Given the description of an element on the screen output the (x, y) to click on. 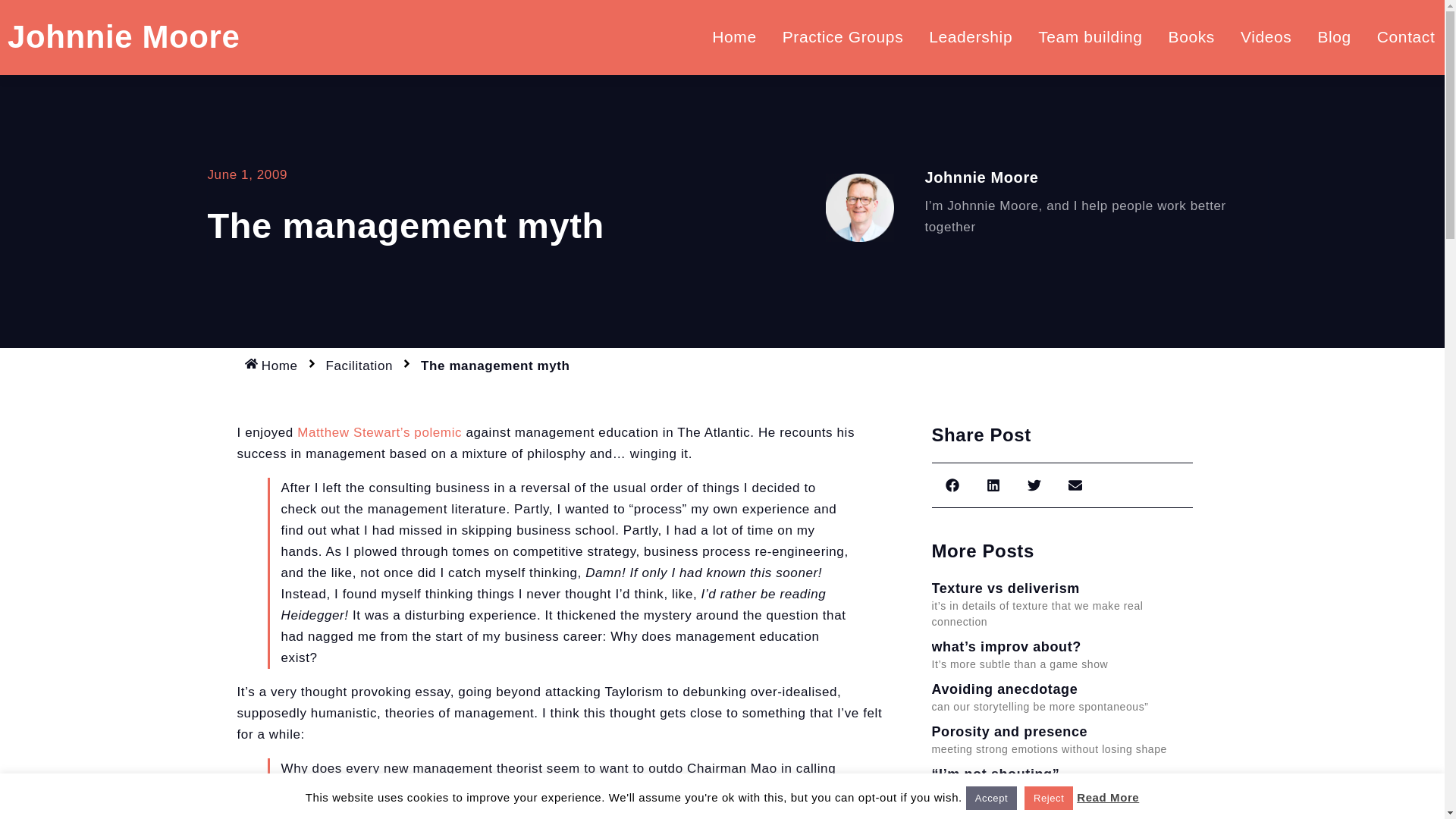
Johnnie Moore (123, 36)
Home (270, 365)
June 1, 2009 (248, 174)
Books (1191, 36)
The management myth (495, 365)
Team building (1089, 36)
Leadership (970, 36)
Videos (1265, 36)
Home (733, 36)
Blog (1334, 36)
Facilitation (359, 365)
Practice Groups (842, 36)
Contact (1406, 36)
Johnnie Moore (123, 36)
Home (270, 365)
